Given the description of an element on the screen output the (x, y) to click on. 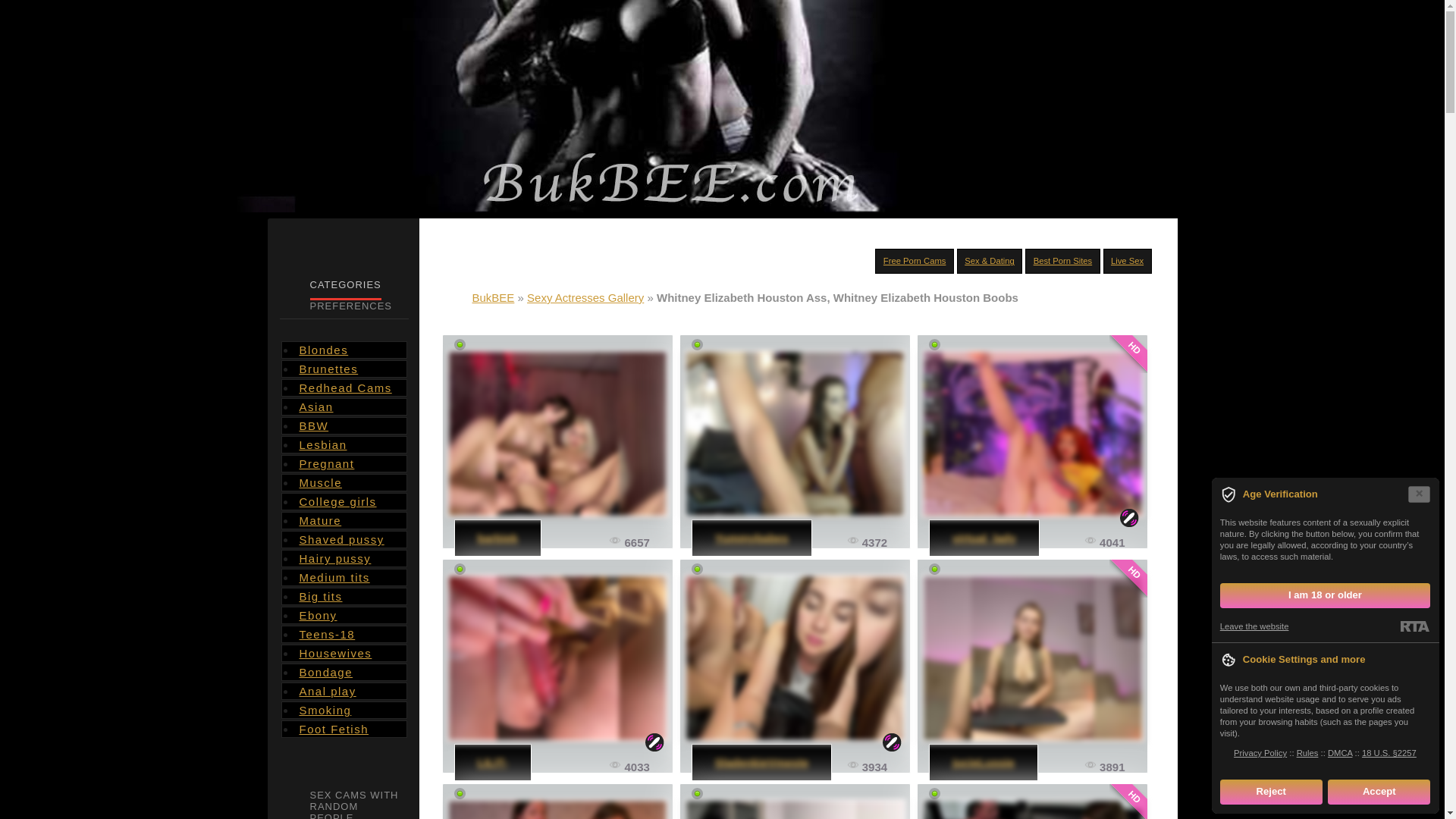
Sexy Actresses Gallery (585, 297)
ScarlettXoXoTarzan (1031, 808)
jucieLussie (1031, 658)
jucieLussie (983, 762)
Live Sex (1126, 260)
barbiek (556, 433)
barbiek (497, 537)
SladenkieVmeste (761, 762)
LILIT- (556, 658)
LILIT- (492, 762)
